Given the description of an element on the screen output the (x, y) to click on. 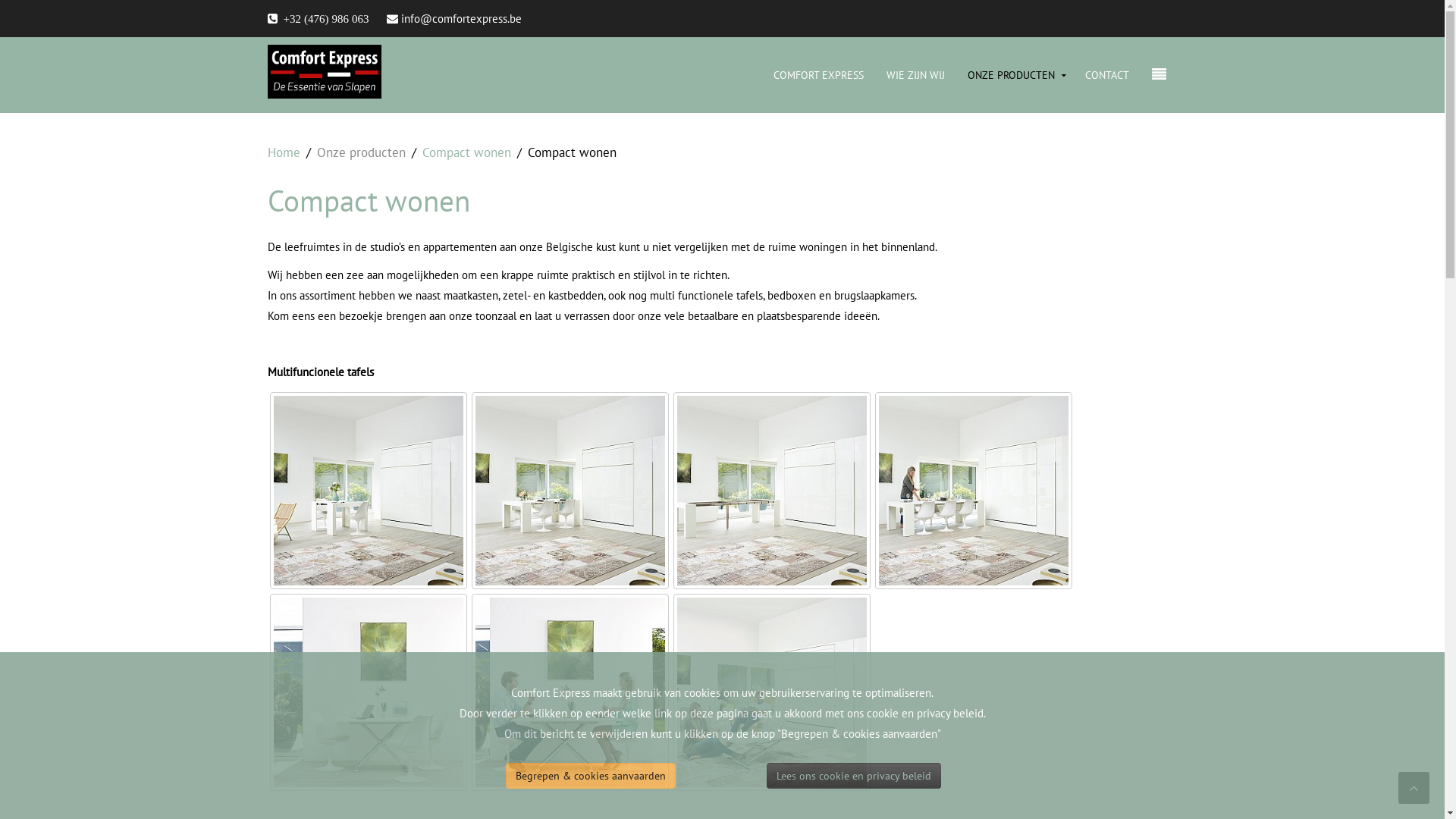
WIE ZIJN WIJ Element type: text (915, 74)
Lees ons cookie en privacy beleid Element type: text (853, 775)
ONZE PRODUCTEN Element type: text (1014, 74)
  +32 (476) 986 063 Element type: text (317, 18)
Home Element type: text (282, 152)
Begrepen & cookies aanvaarden Element type: text (590, 775)
CONTACT Element type: text (1106, 74)
Compact wonen Element type: text (465, 152)
COMFORT EXPRESS Element type: text (817, 74)
info@comfortexpress.be Element type: text (461, 18)
